Given the description of an element on the screen output the (x, y) to click on. 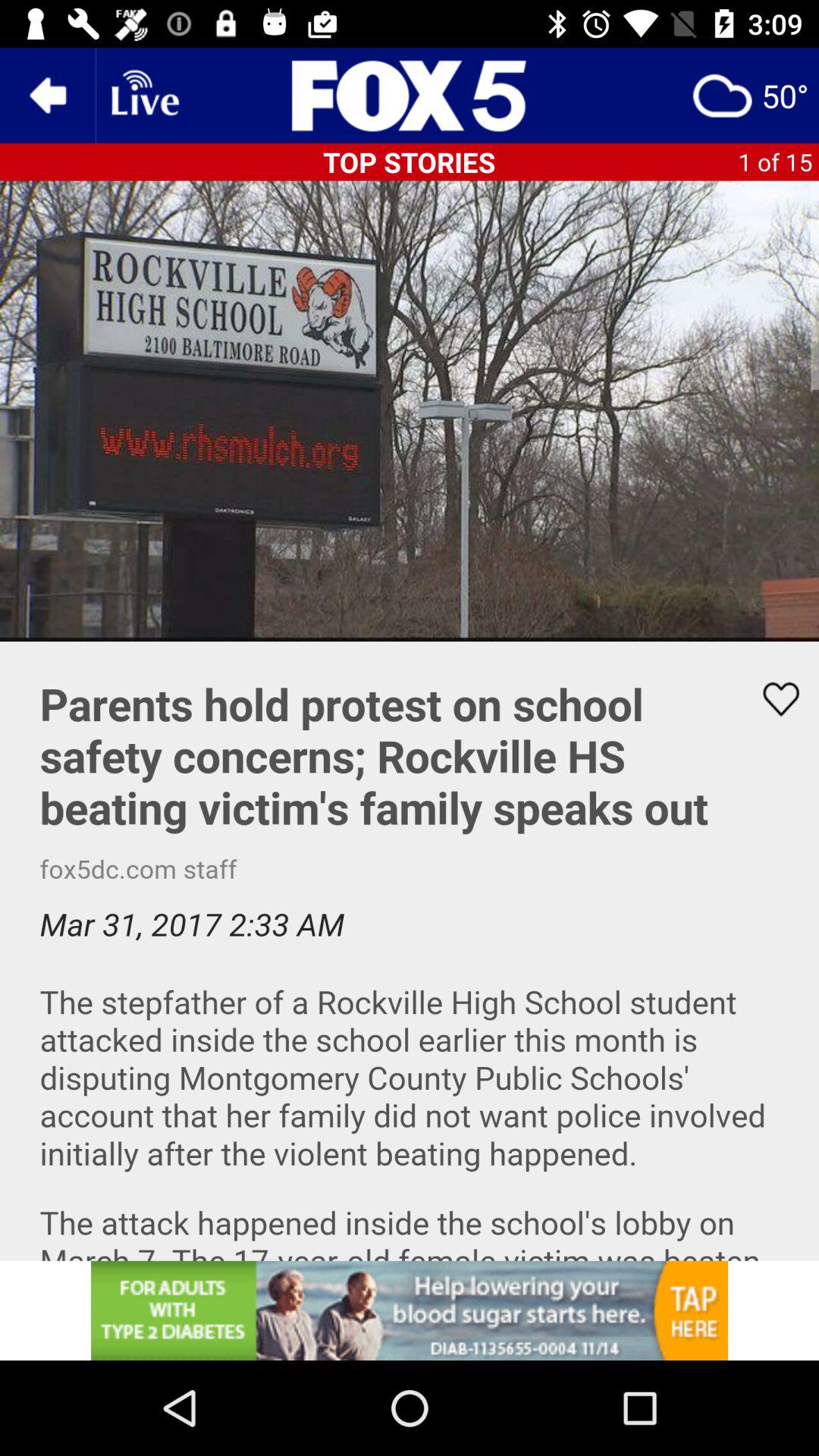
add to favorites (771, 699)
